Given the description of an element on the screen output the (x, y) to click on. 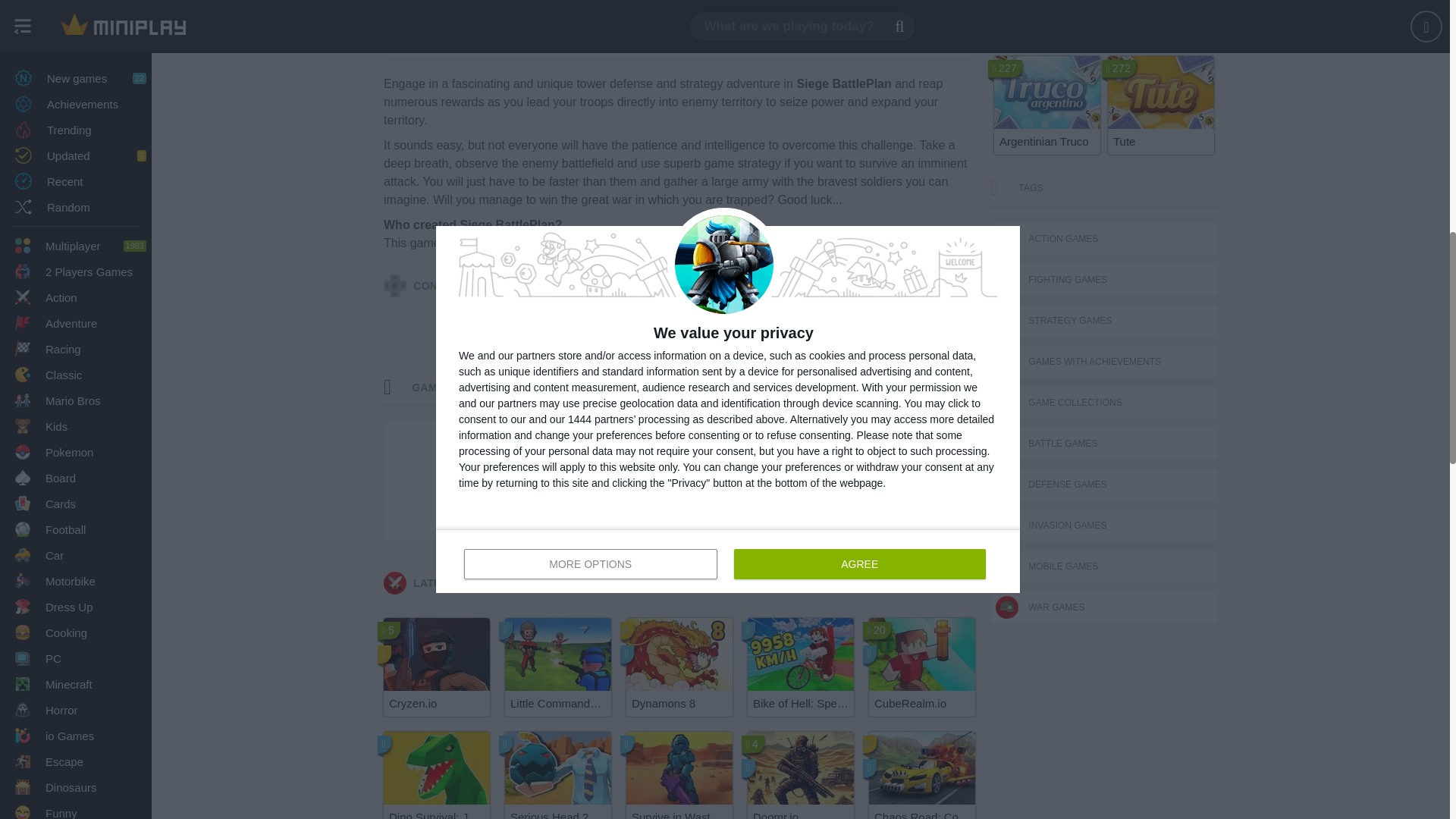
Funny (75, 3)
